Given the description of an element on the screen output the (x, y) to click on. 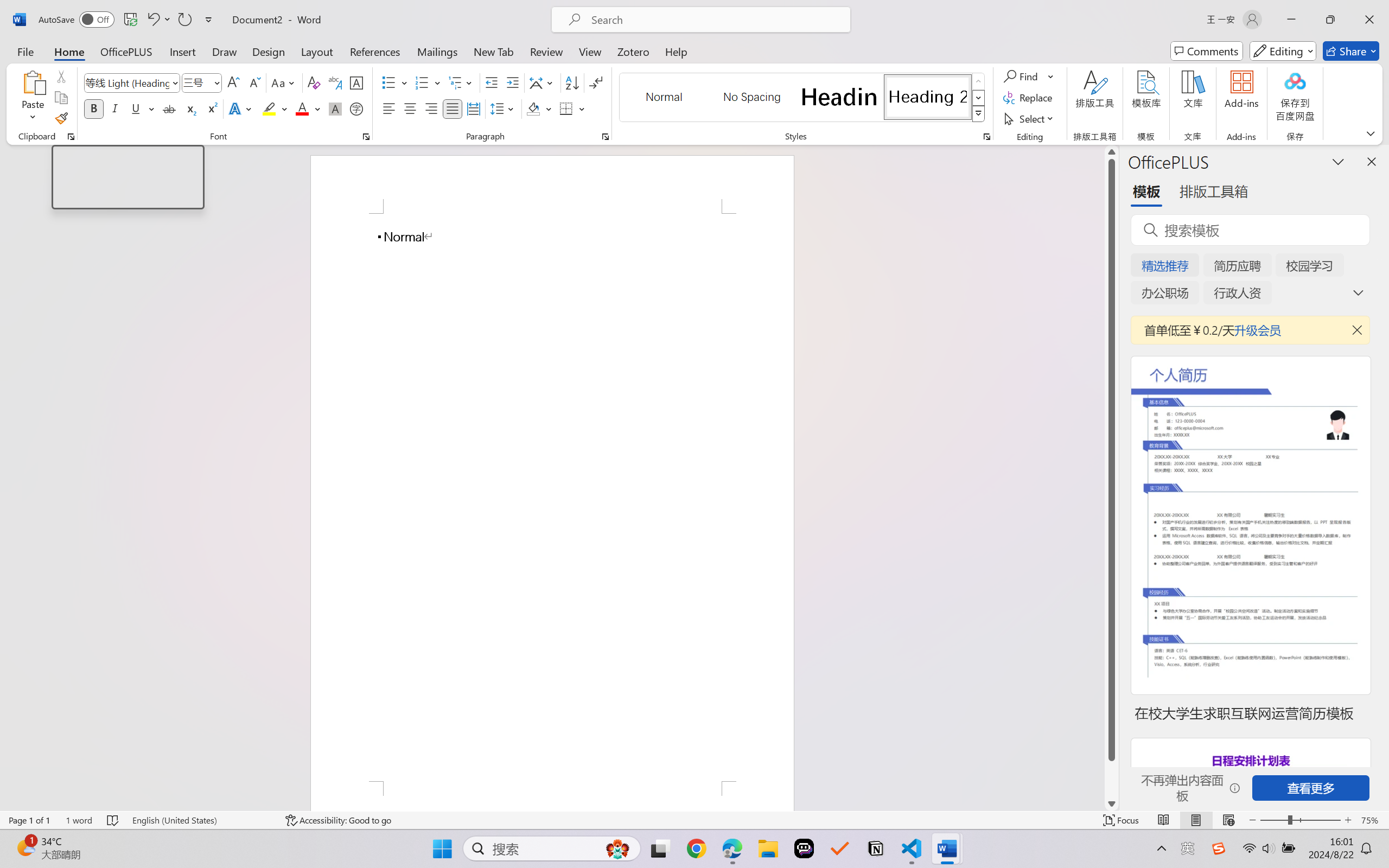
Microsoft search (715, 19)
Zotero (632, 51)
References (375, 51)
Repeat Doc Close (184, 19)
Save (130, 19)
Zoom Out (1273, 819)
Paste (33, 81)
Spelling and Grammar Check No Errors (113, 819)
Focus  (1121, 819)
Copy (60, 97)
Web Layout (1228, 819)
